Given the description of an element on the screen output the (x, y) to click on. 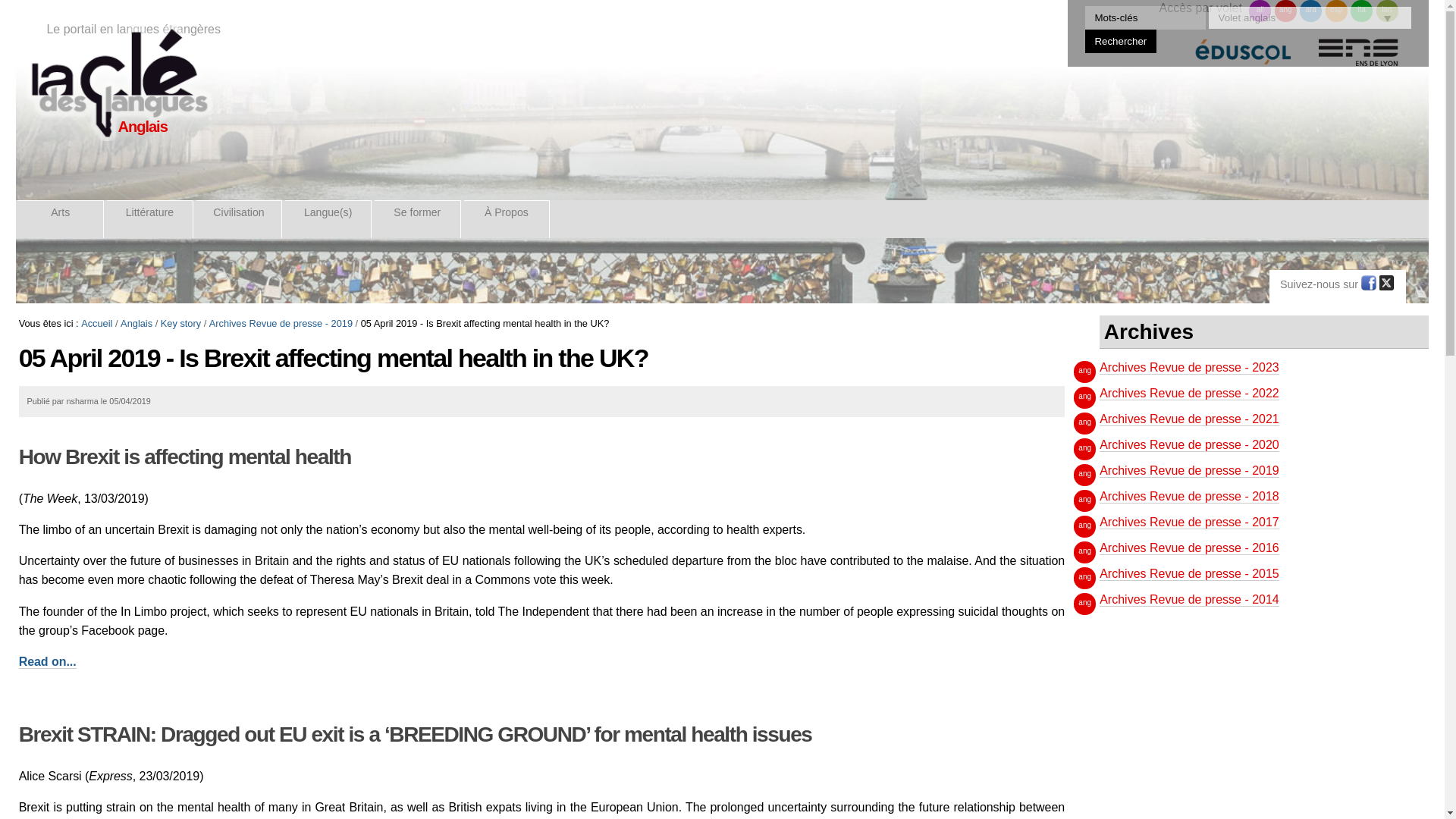
esp (1336, 11)
ENS Lyon (1358, 59)
ang (1286, 11)
Rechercher (1120, 41)
Se former (417, 218)
Rechercher (1120, 41)
ita (1362, 11)
Retour au portail (117, 82)
Civilisation (239, 218)
all (1260, 11)
Arts (60, 218)
Recherche (1145, 17)
EduScol (1243, 59)
ara (1311, 11)
lan (1386, 11)
